Given the description of an element on the screen output the (x, y) to click on. 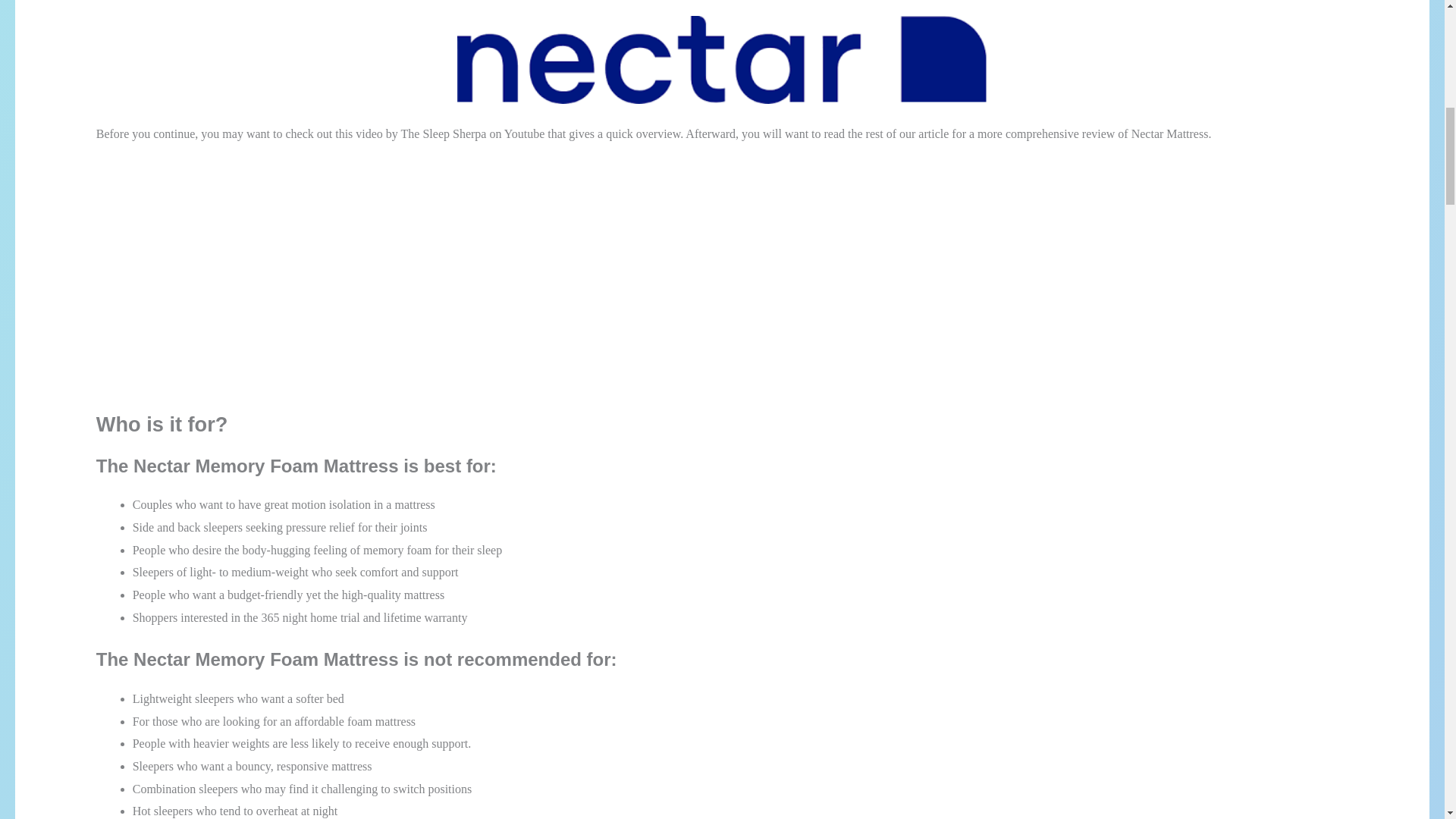
YouTube video player (308, 264)
